Given the description of an element on the screen output the (x, y) to click on. 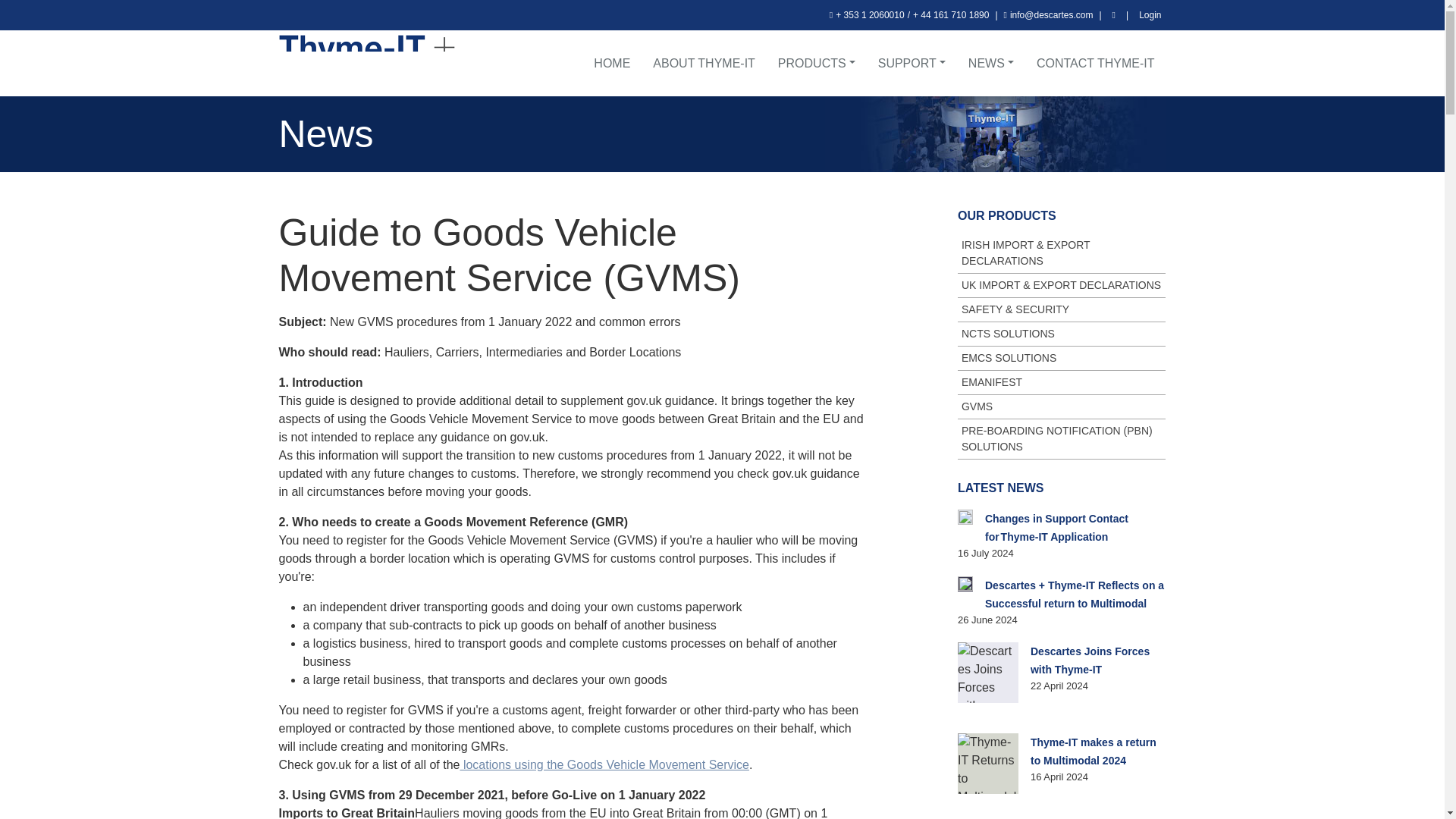
SUPPORT (911, 63)
EMANIFEST (1062, 382)
NEWS (990, 63)
 locations using the Goods Vehicle Movement Service (604, 764)
ABOUT THYME-IT (704, 63)
EMCS SOLUTIONS (1062, 358)
GVMS (1062, 406)
CONTACT THYME-IT (1095, 63)
LinkedIn (1113, 15)
PRODUCTS (816, 63)
Login (1149, 14)
HOME (612, 63)
NCTS SOLUTIONS (1062, 333)
